Given the description of an element on the screen output the (x, y) to click on. 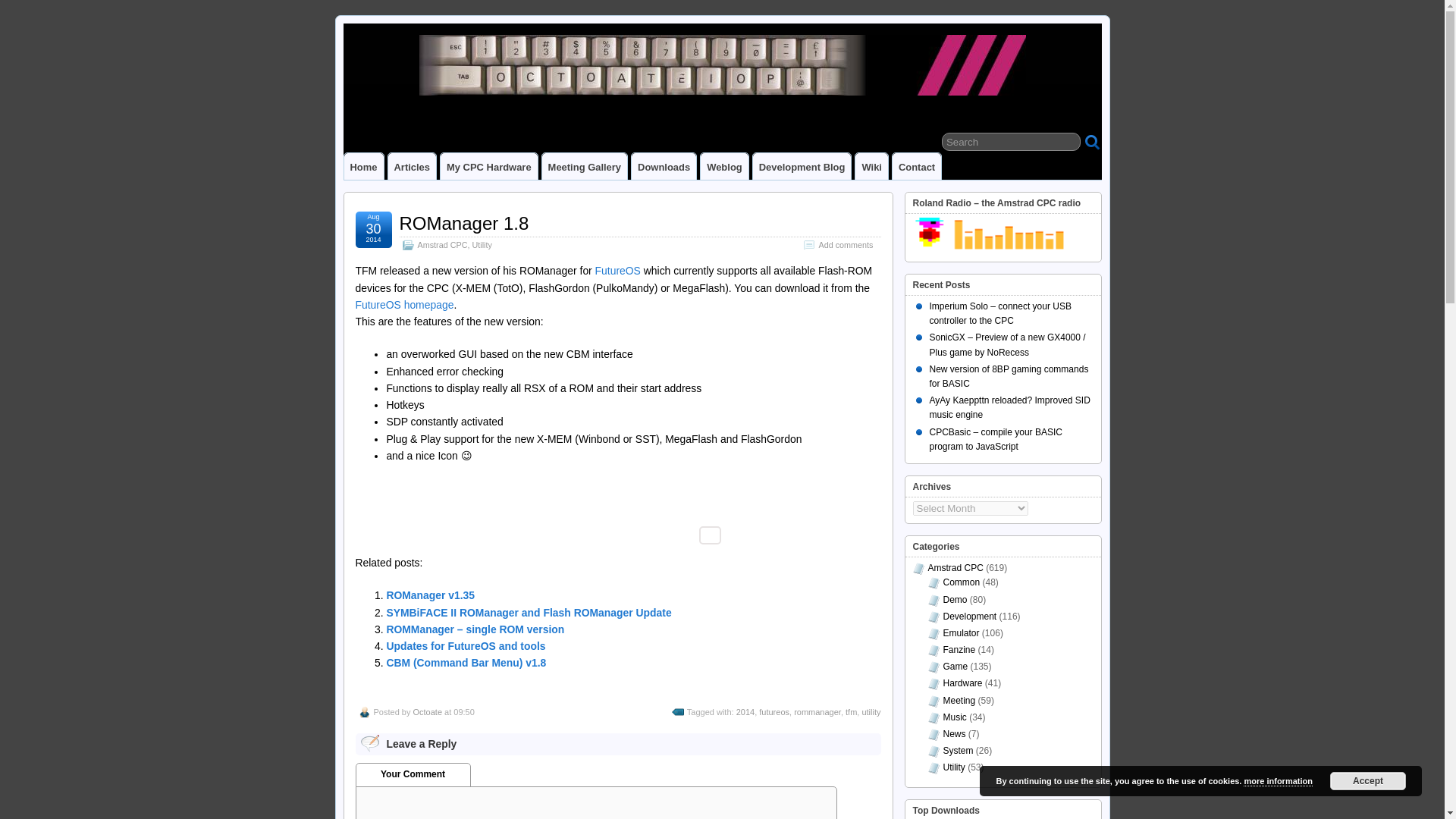
SYMBiFACE II ROManager and Flash ROManager Update (528, 612)
Home (363, 166)
tfm (851, 711)
Downloads (663, 166)
ROManager 1.8 (463, 222)
Amstrad CPC (956, 567)
Updates for FutureOS and tools (464, 645)
Amstrad CPC: FutureOS download page (403, 304)
Utility (481, 244)
Add comments (845, 244)
futureos (773, 711)
Search (1011, 141)
SYMBiFACE II ROManager and Flash ROManager Update (528, 612)
Amstrad CPC: FutureOS (617, 270)
AyAy Kaeppttn reloaded? Improved SID music engine (1010, 407)
